Given the description of an element on the screen output the (x, y) to click on. 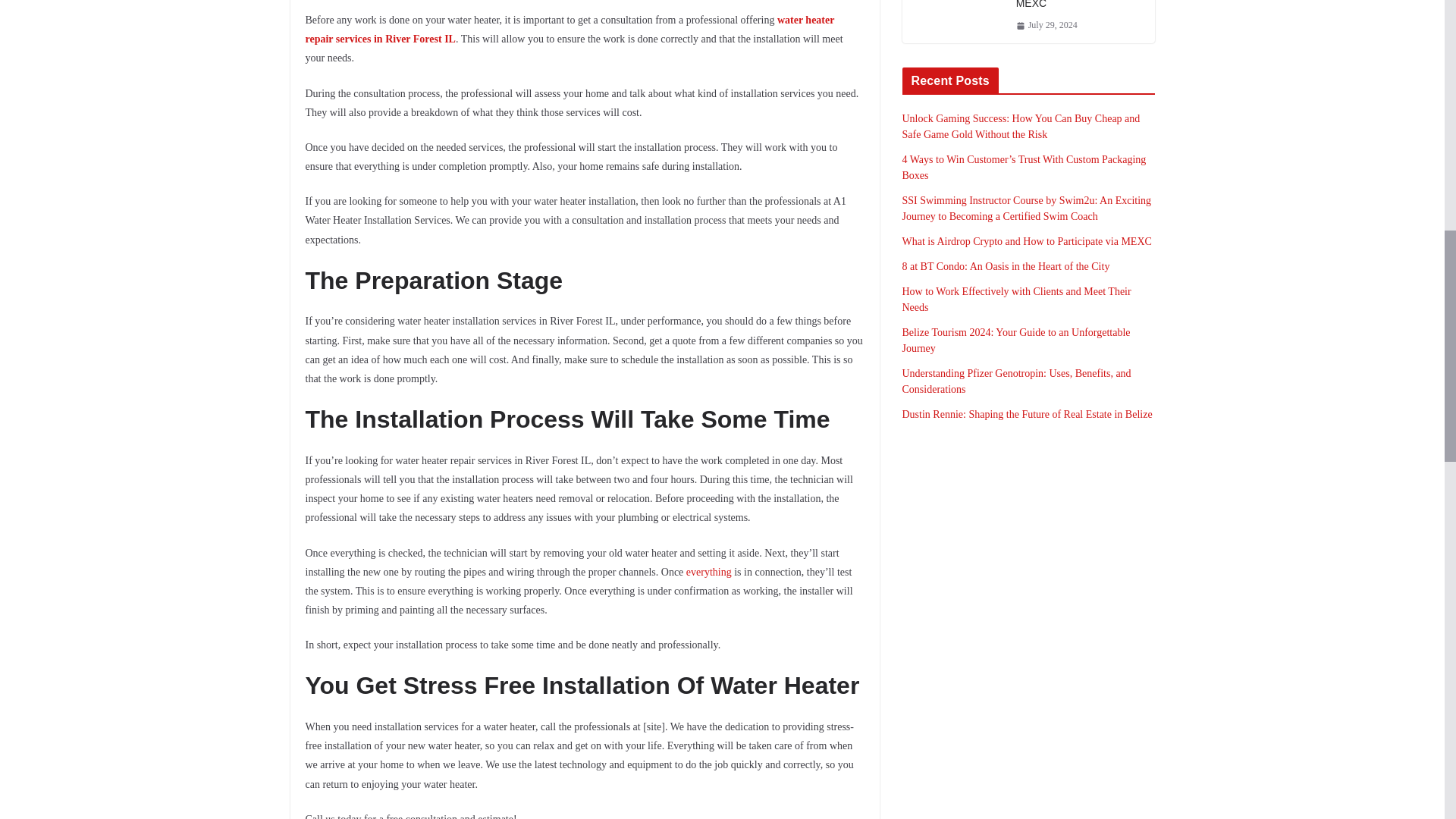
water heater repair services in River Forest IL (569, 29)
everything (708, 572)
